Given the description of an element on the screen output the (x, y) to click on. 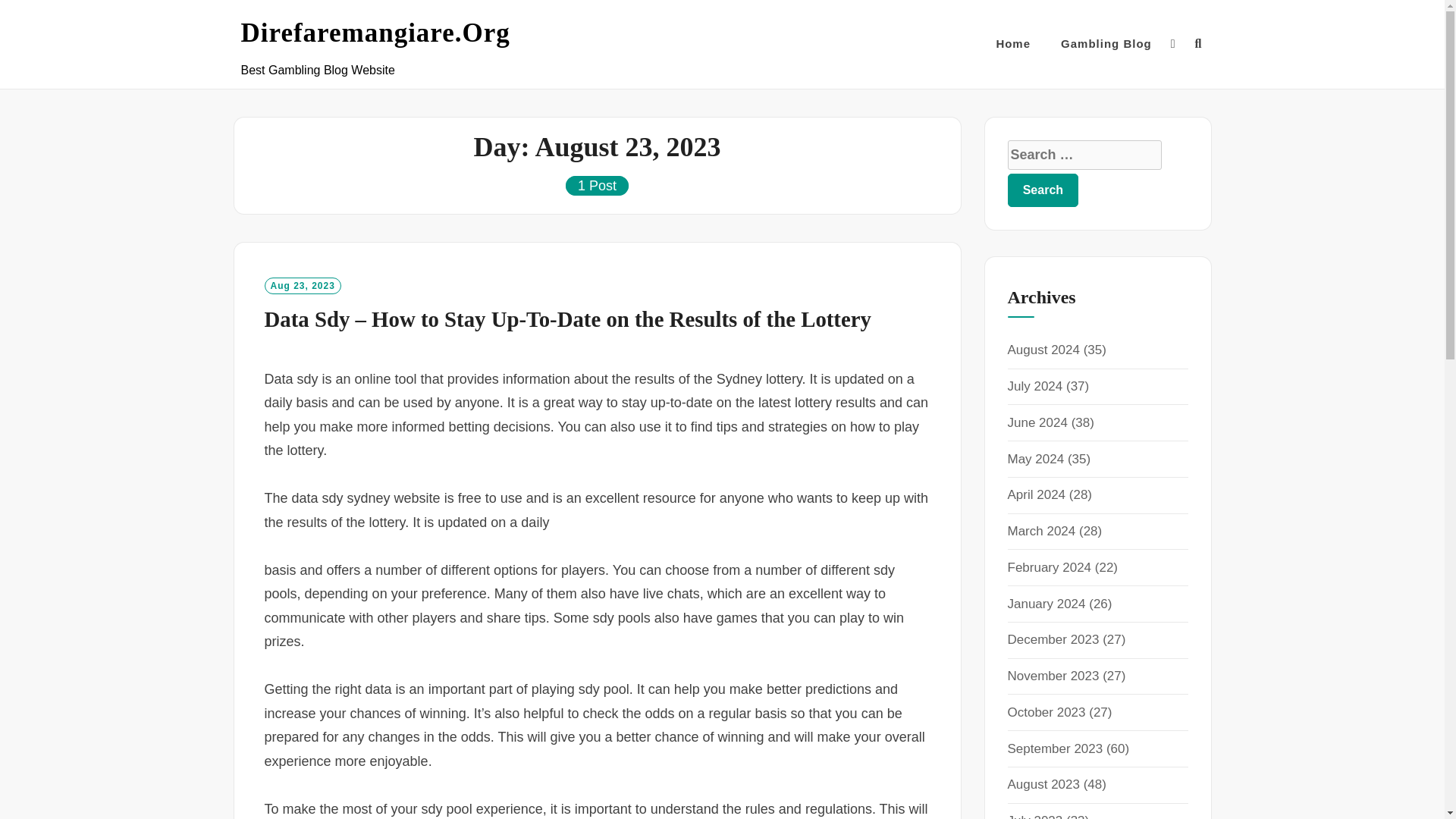
July 2024 (1034, 386)
May 2024 (1035, 459)
Home (1012, 44)
October 2023 (1045, 712)
Search (1042, 190)
March 2024 (1041, 531)
Search (1042, 190)
November 2023 (1053, 676)
September 2023 (1054, 748)
August 2024 (1042, 350)
